Given the description of an element on the screen output the (x, y) to click on. 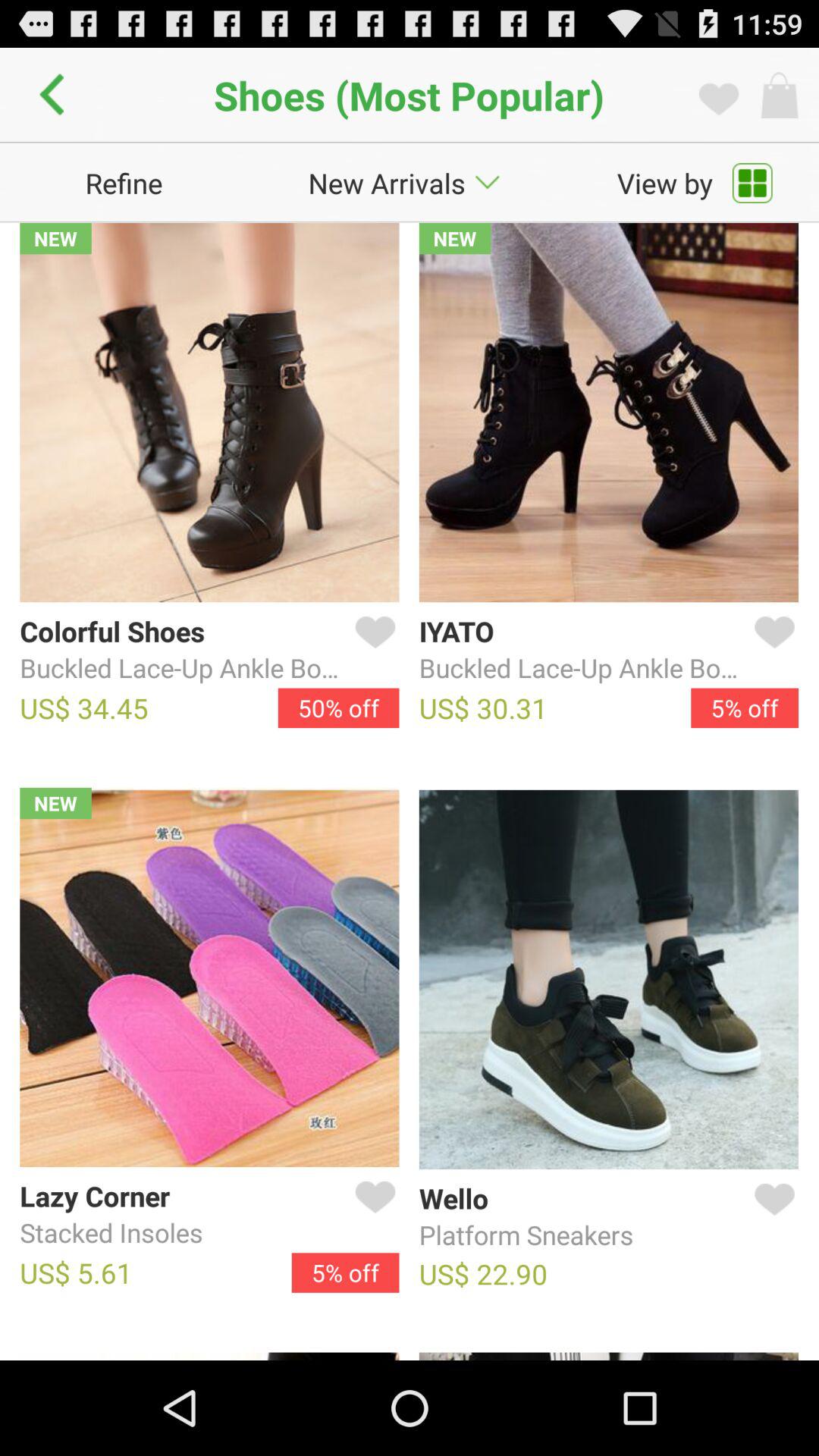
button to favorite or bookmark a product (372, 1214)
